Given the description of an element on the screen output the (x, y) to click on. 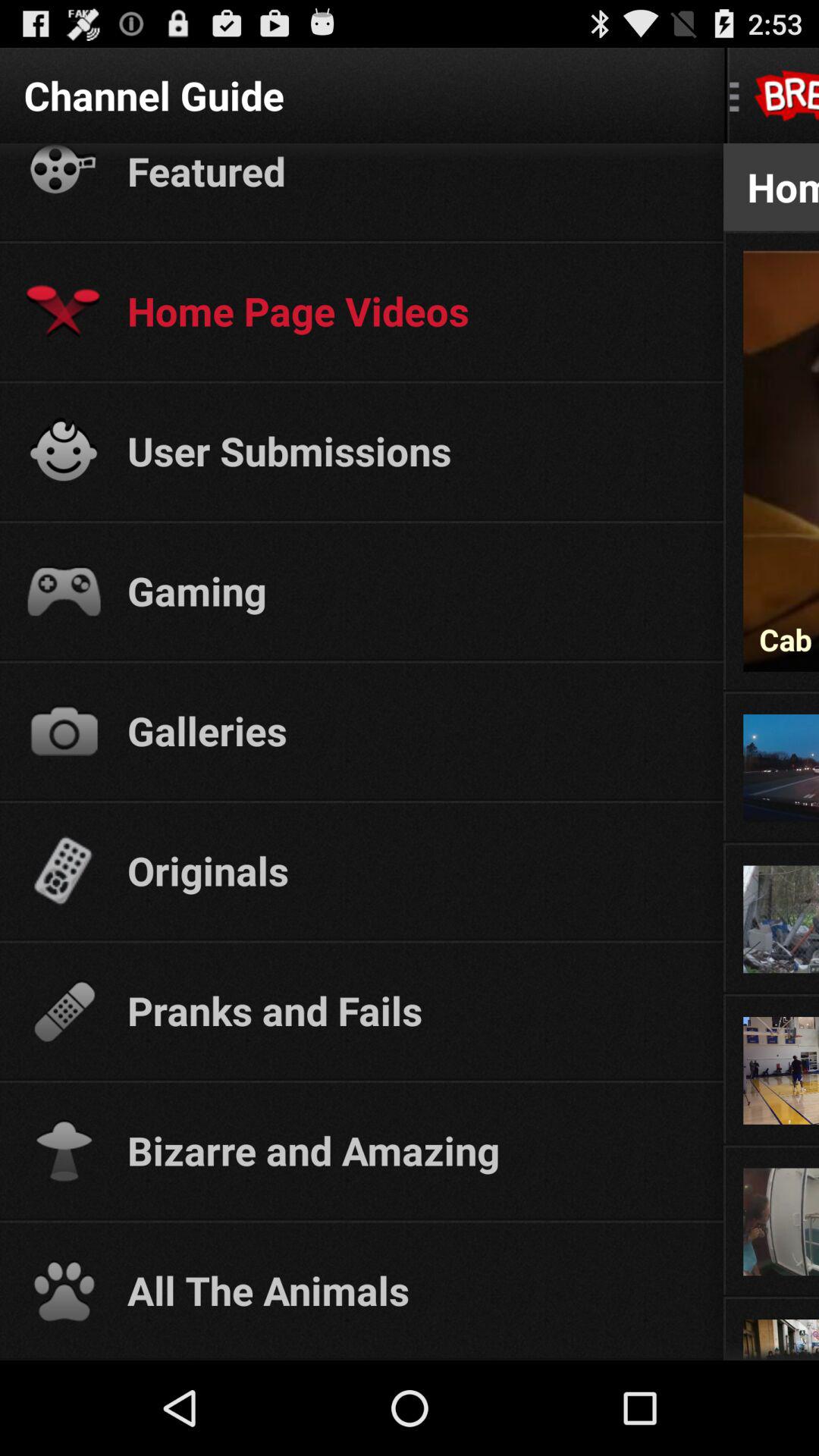
flip to user submissions app (411, 450)
